Given the description of an element on the screen output the (x, y) to click on. 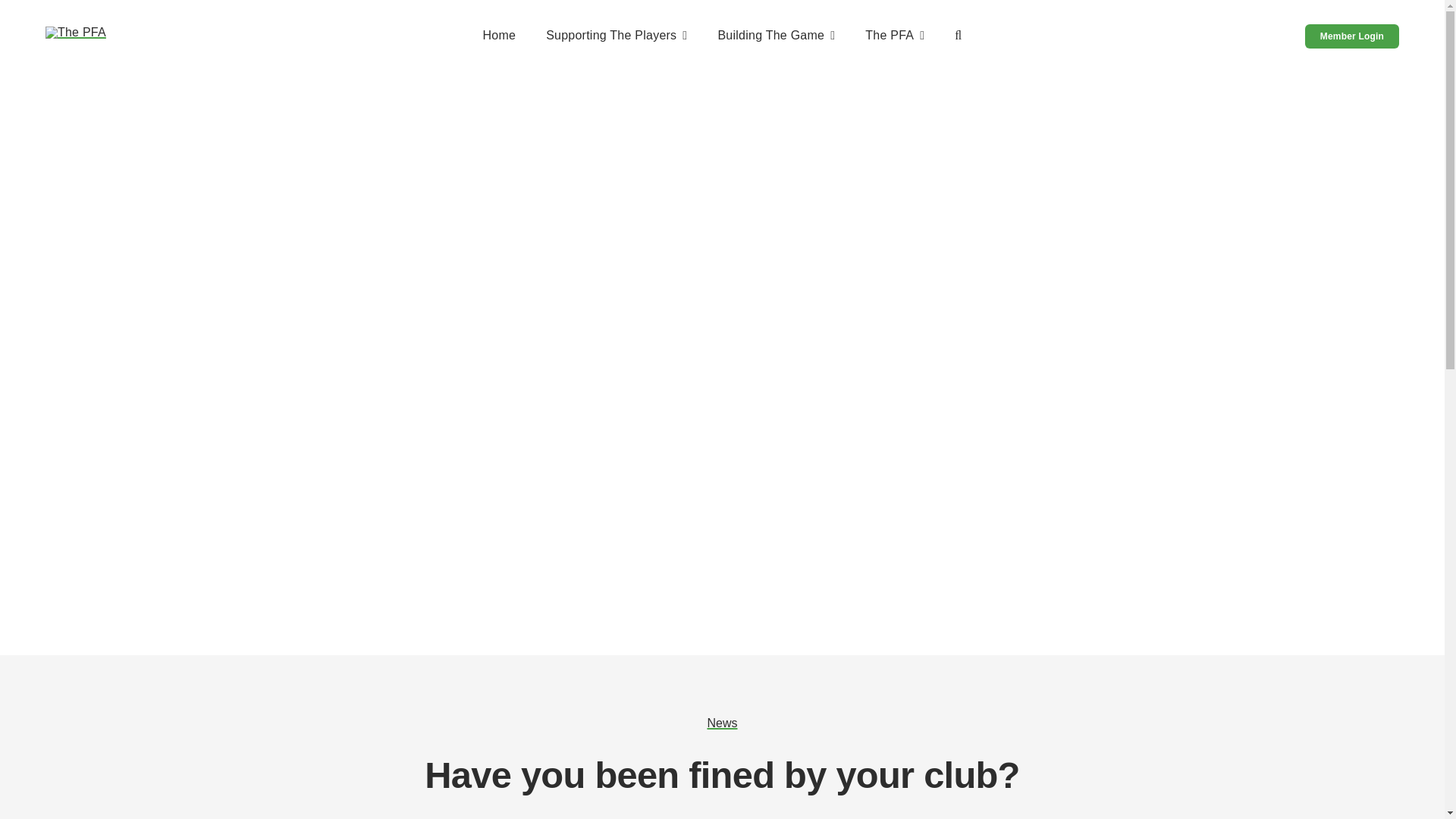
Home (498, 36)
Supporting The Players (616, 36)
Building The Game (775, 36)
News (721, 722)
Member Login (1351, 36)
News (721, 722)
The PFA (894, 36)
